Given the description of an element on the screen output the (x, y) to click on. 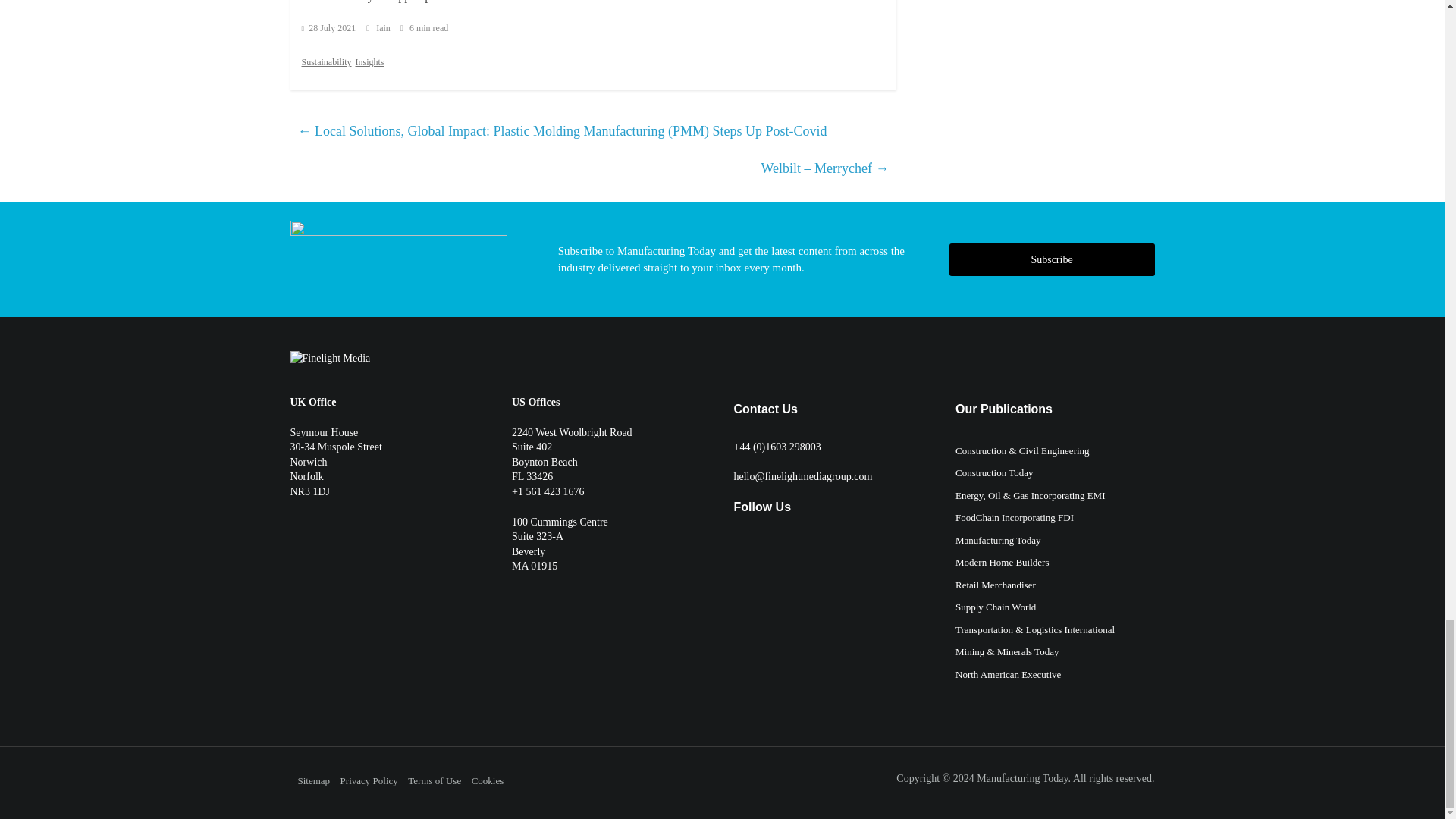
2:17 pm (328, 27)
Subscribe (1051, 259)
Sustainability (326, 61)
28 July 2021 (328, 27)
Iain (384, 27)
Iain (384, 27)
Manufacturing Today (1021, 778)
Insights (369, 61)
